Given the description of an element on the screen output the (x, y) to click on. 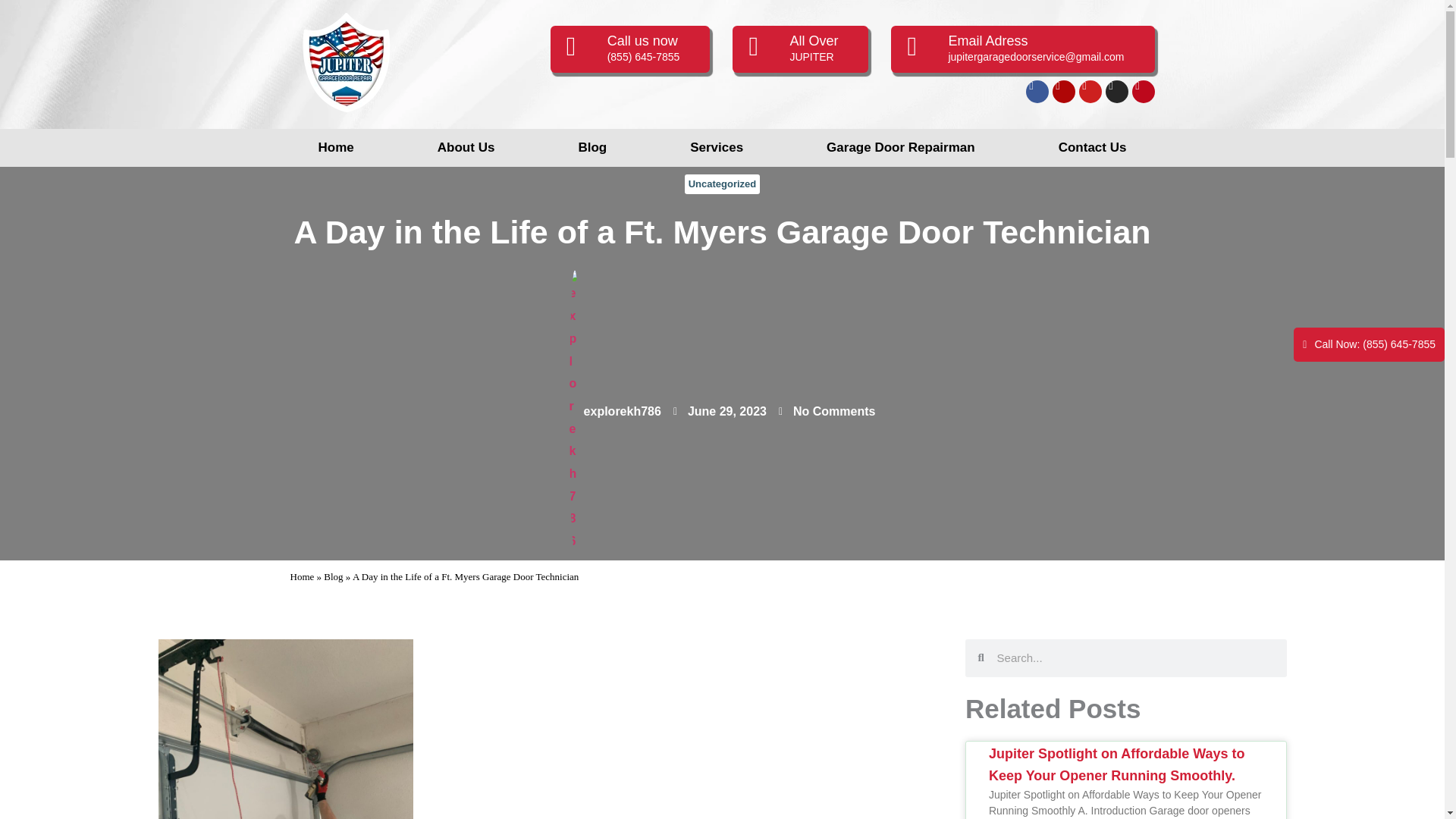
Blog (332, 576)
Contact Us (1092, 147)
Home (301, 576)
No Comments (826, 411)
June 29, 2023 (719, 411)
Email Adress (987, 40)
Garage Door Repairman (900, 147)
About Us (466, 147)
Call us now (642, 40)
Home (335, 147)
